Given the description of an element on the screen output the (x, y) to click on. 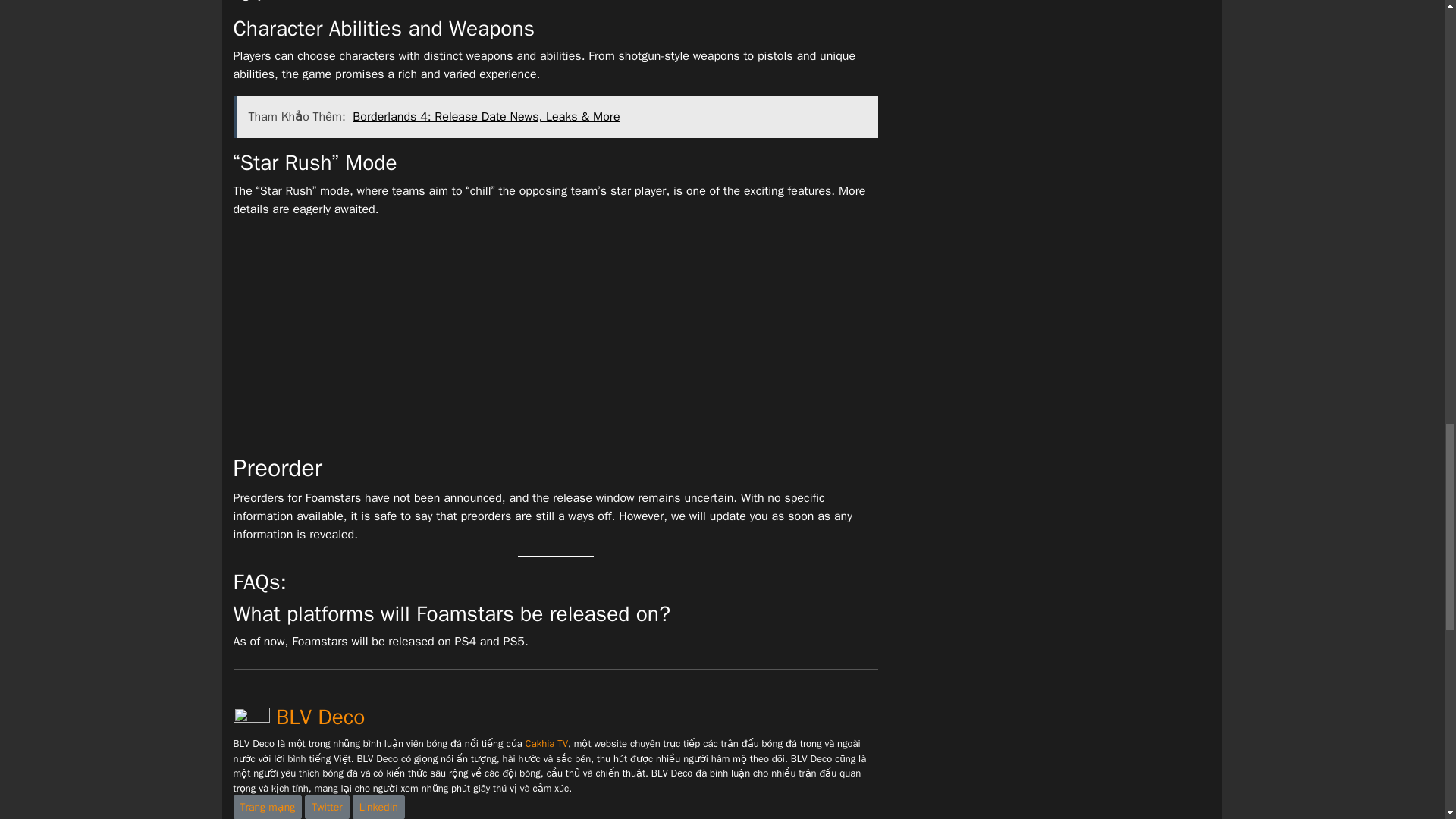
Twitter (326, 807)
LinkedIn (378, 807)
 BLV Deco (298, 716)
LinkedIn (378, 807)
Twitter (326, 807)
Cakhia TV (546, 743)
